Given the description of an element on the screen output the (x, y) to click on. 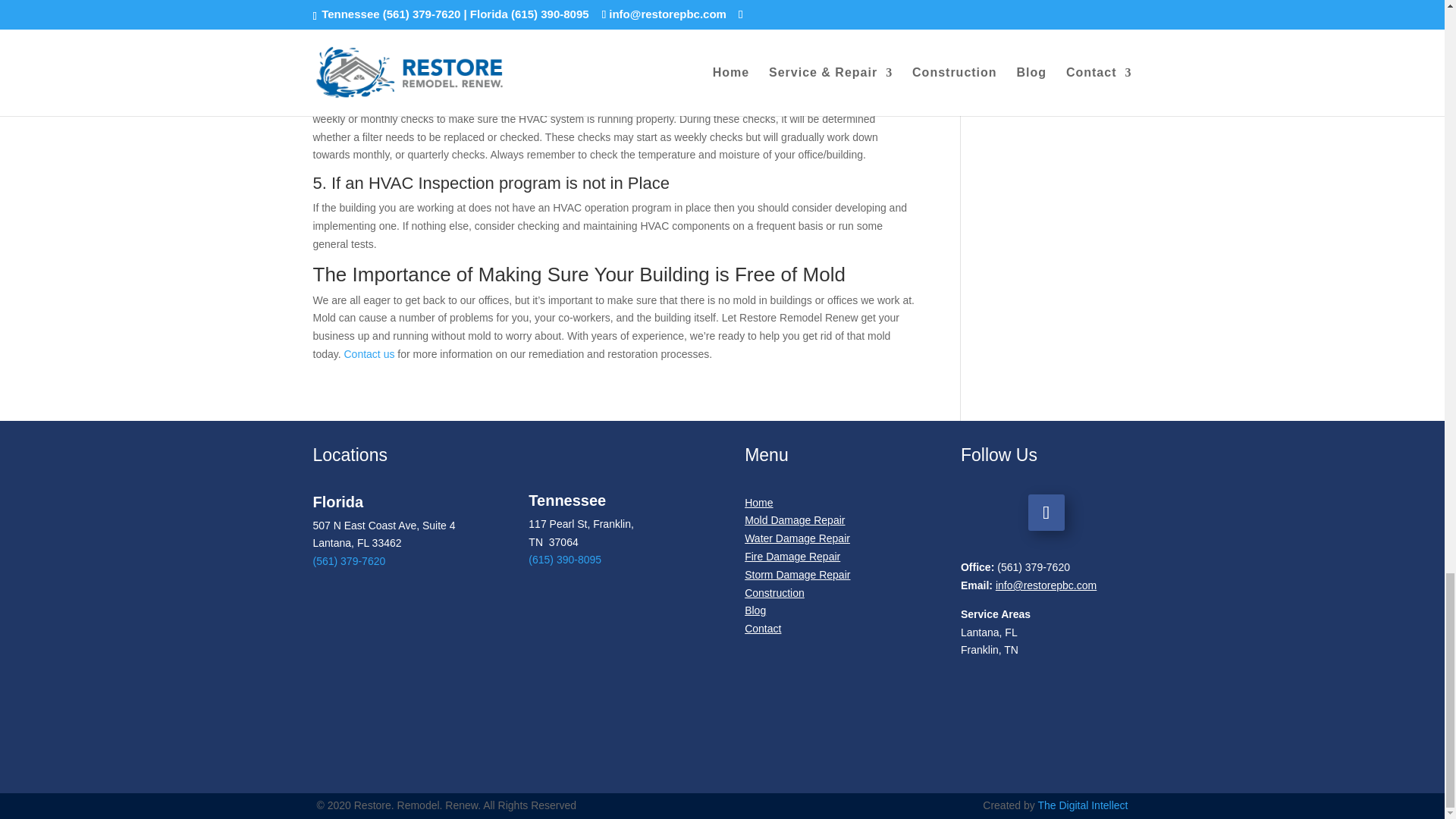
Follow on Facebook (1045, 512)
